Given the description of an element on the screen output the (x, y) to click on. 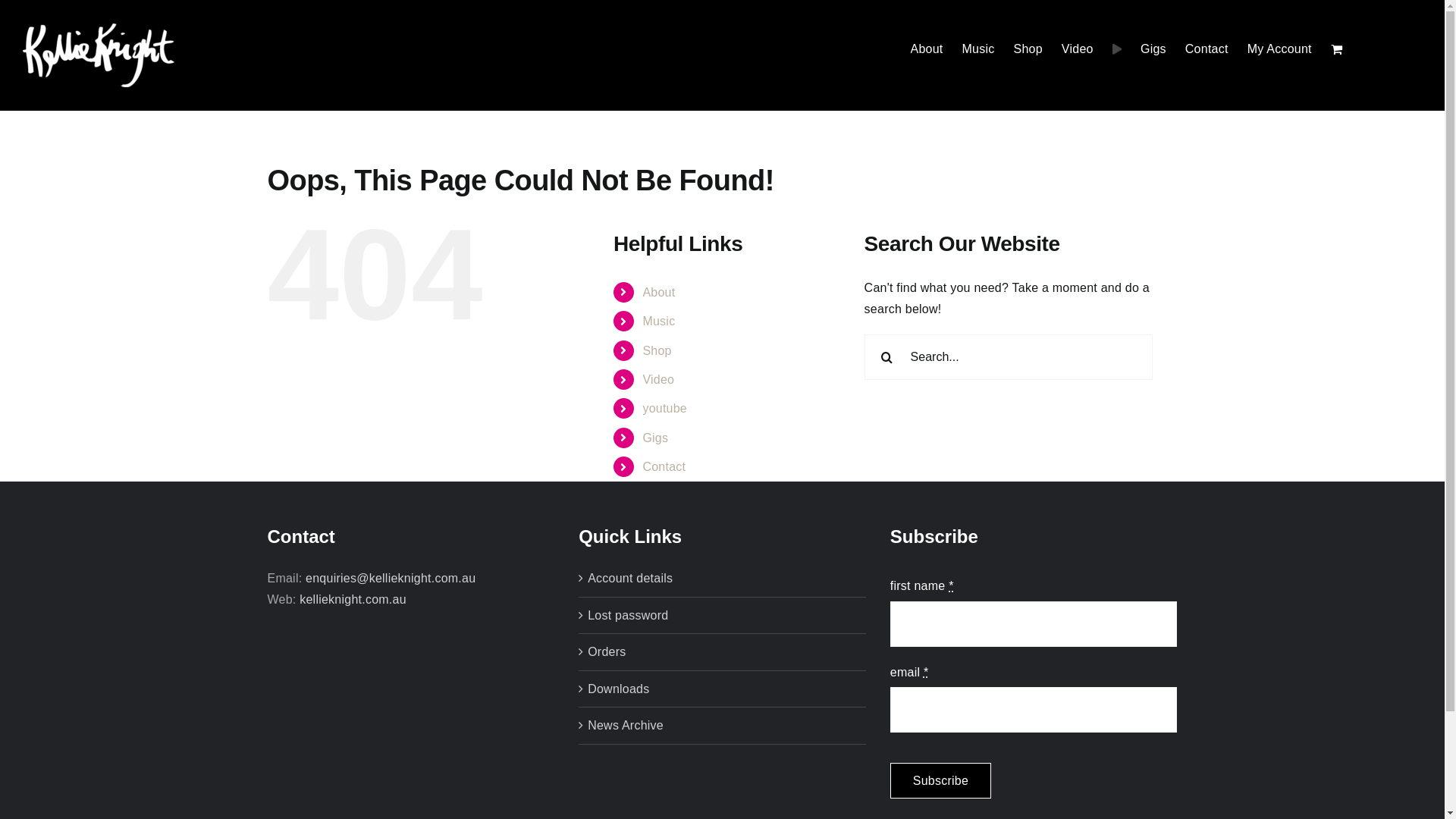
My Account Element type: text (1279, 49)
Shop Element type: text (1027, 49)
Shop Element type: text (656, 350)
kellieknight.com.au Element type: text (352, 599)
News Archive Element type: text (722, 725)
About Element type: text (926, 49)
Log In Element type: text (1343, 257)
Subscribe Element type: text (940, 780)
Video Element type: text (658, 379)
Account details Element type: text (722, 578)
Contact Element type: text (1206, 49)
Lost password Element type: text (722, 615)
Video Element type: text (1077, 49)
About Element type: text (658, 291)
Contact Element type: text (663, 466)
youtube Element type: text (664, 407)
Music Element type: text (978, 49)
Gigs Element type: text (1153, 49)
Orders Element type: text (722, 651)
Gigs Element type: text (655, 437)
enquiries@kellieknight.com.au Element type: text (390, 577)
Music Element type: text (658, 320)
Downloads Element type: text (722, 688)
